Given the description of an element on the screen output the (x, y) to click on. 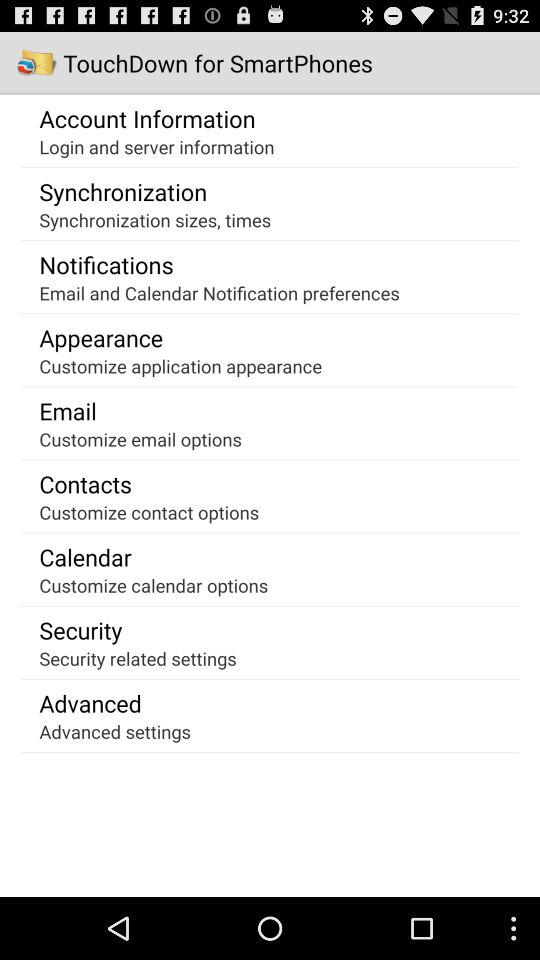
select the icon above synchronization icon (156, 146)
